Given the description of an element on the screen output the (x, y) to click on. 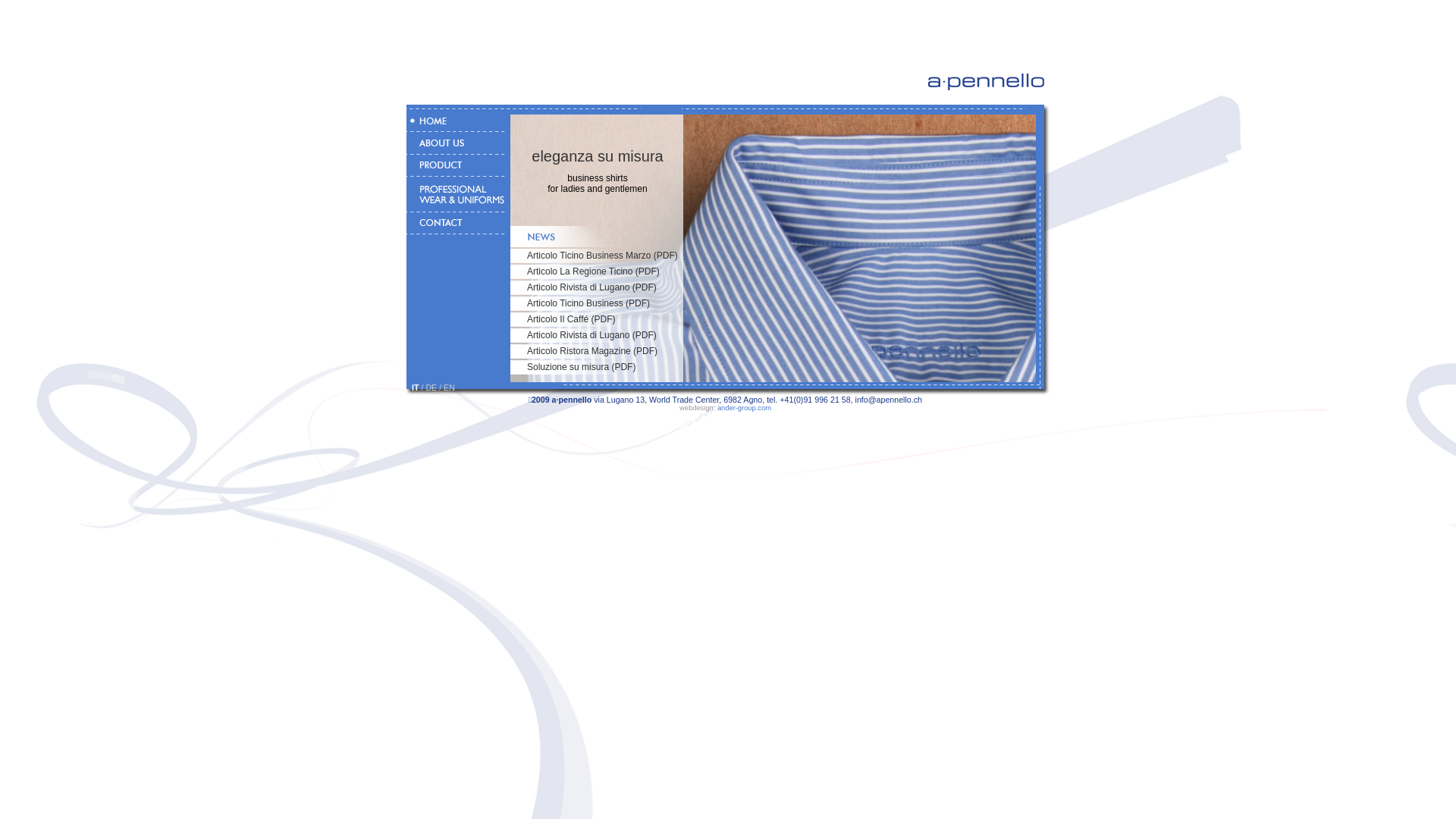
Articolo Ristora Magazine (PDF) Element type: text (592, 350)
Articolo Ticino Business Marzo (PDF) Element type: text (602, 255)
Articolo Rivista di Lugano (PDF) Element type: text (591, 287)
EN Element type: text (449, 387)
info@apennello.ch Element type: text (888, 399)
DE Element type: text (430, 387)
ander-group.com Element type: text (744, 407)
apennello Element type: hover (986, 81)
Articolo La Regione Ticino (PDF) Element type: text (593, 271)
Articolo Rivista di Lugano (PDF) Element type: text (591, 334)
Soluzione su misura (PDF) Element type: text (581, 366)
Articolo Ticino Business (PDF) Element type: text (588, 303)
